Given the description of an element on the screen output the (x, y) to click on. 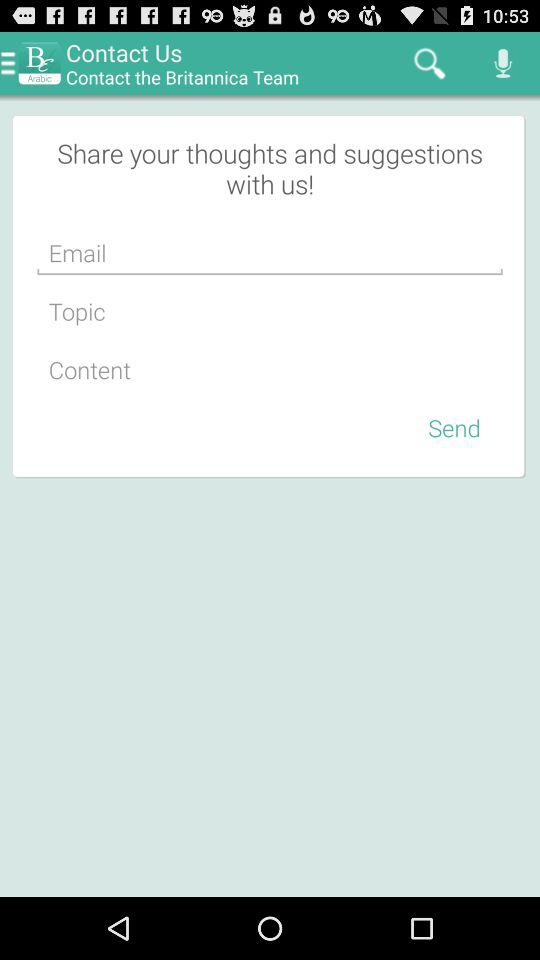
type email (270, 253)
